Given the description of an element on the screen output the (x, y) to click on. 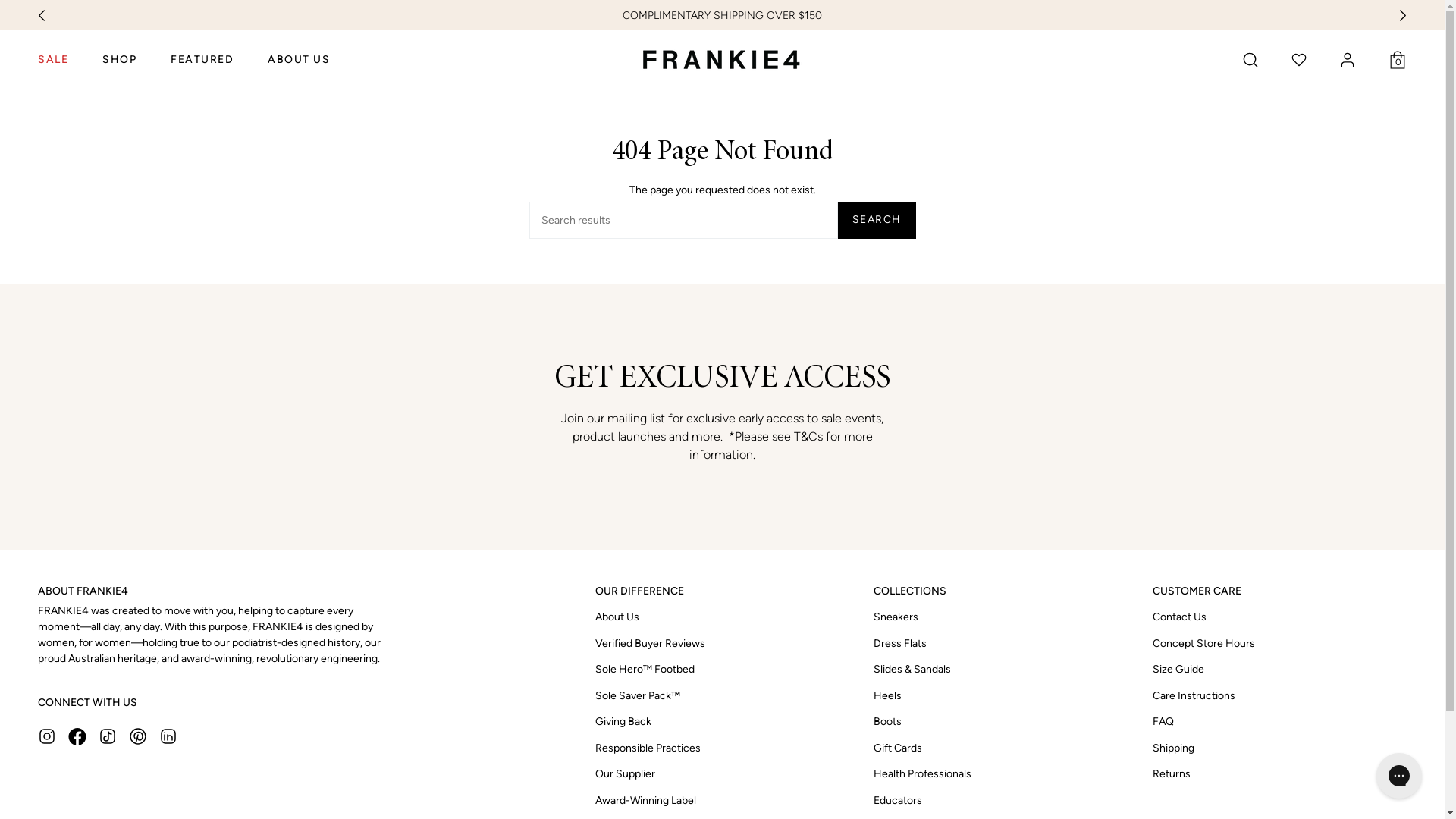
SALE Element type: text (52, 60)
Health Professionals Element type: text (922, 773)
Concept Store Hours Element type: text (1203, 643)
Verified Buyer Reviews Element type: text (650, 643)
Shipping Element type: text (1173, 747)
Linkedin Element type: text (168, 735)
FAQ Element type: text (1162, 721)
Responsible Practices Element type: text (647, 747)
Heels Element type: text (887, 695)
Size Guide Element type: text (1178, 668)
Account Element type: text (1347, 60)
FEATURED Element type: text (201, 60)
Our Supplier Element type: text (625, 773)
TikTok Element type: text (107, 735)
Gift Cards Element type: text (897, 747)
SHOP Element type: text (119, 60)
Slides & Sandals Element type: text (911, 668)
Gorgias live chat messenger Element type: hover (1398, 775)
Pinterest Element type: text (137, 735)
Cart
0 Element type: text (1397, 60)
Giving Back Element type: text (623, 721)
SEARCH Element type: text (876, 219)
Facebook Element type: text (77, 735)
Dress Flats Element type: text (899, 643)
Returns Element type: text (1171, 773)
Sneakers Element type: text (895, 616)
Instagram Element type: text (46, 735)
ABOUT US Element type: text (298, 60)
Contact Us Element type: text (1179, 616)
About Us Element type: text (617, 616)
Care Instructions Element type: text (1193, 695)
Boots Element type: text (887, 721)
Award-Winning Label Element type: text (645, 799)
Educators Element type: text (897, 799)
